Given the description of an element on the screen output the (x, y) to click on. 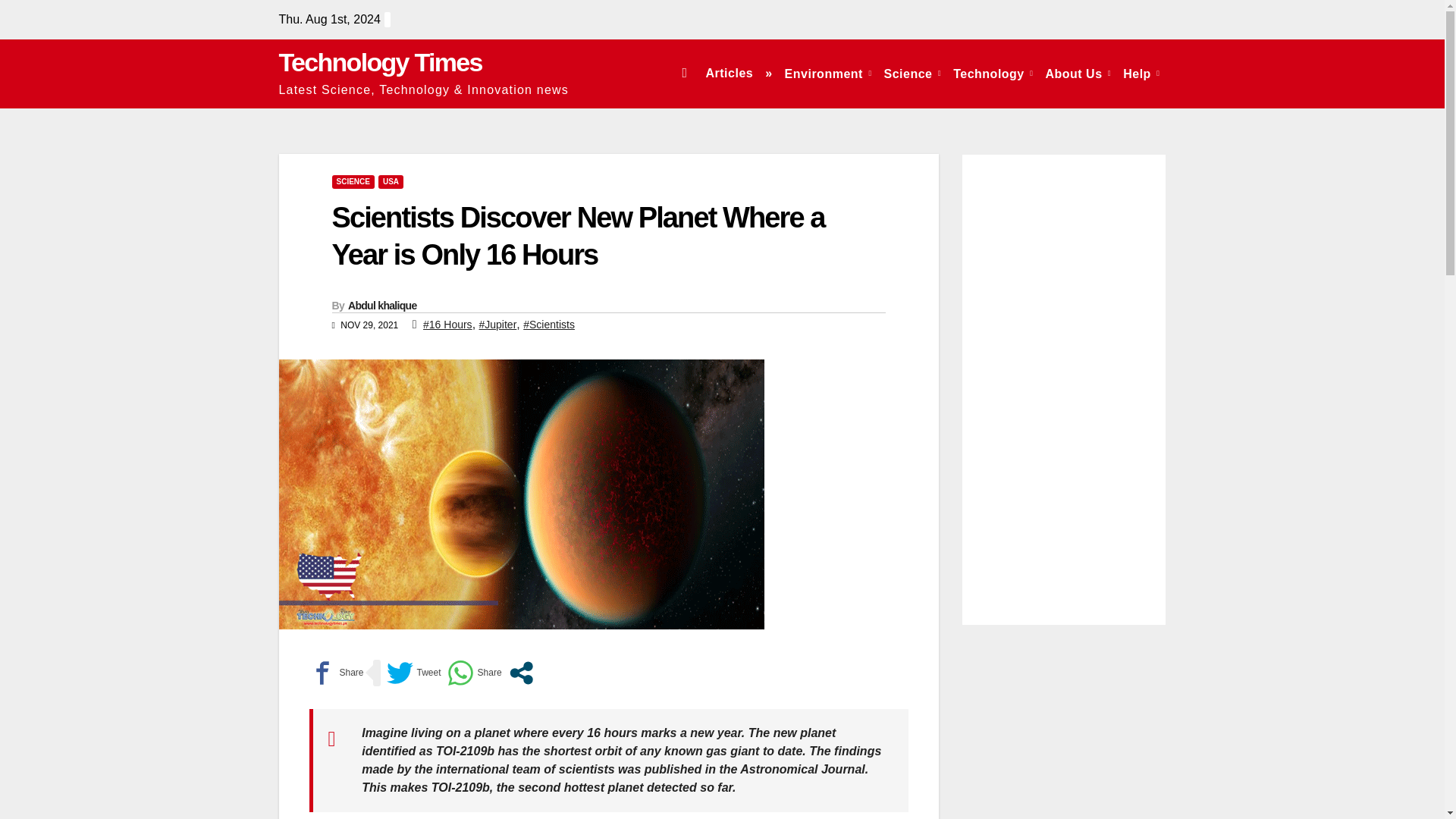
Technology (993, 73)
Technology Times (380, 61)
About Us (1077, 73)
Science (912, 73)
Technology (993, 73)
Science (912, 73)
Environment (827, 73)
Environment (827, 73)
